Given the description of an element on the screen output the (x, y) to click on. 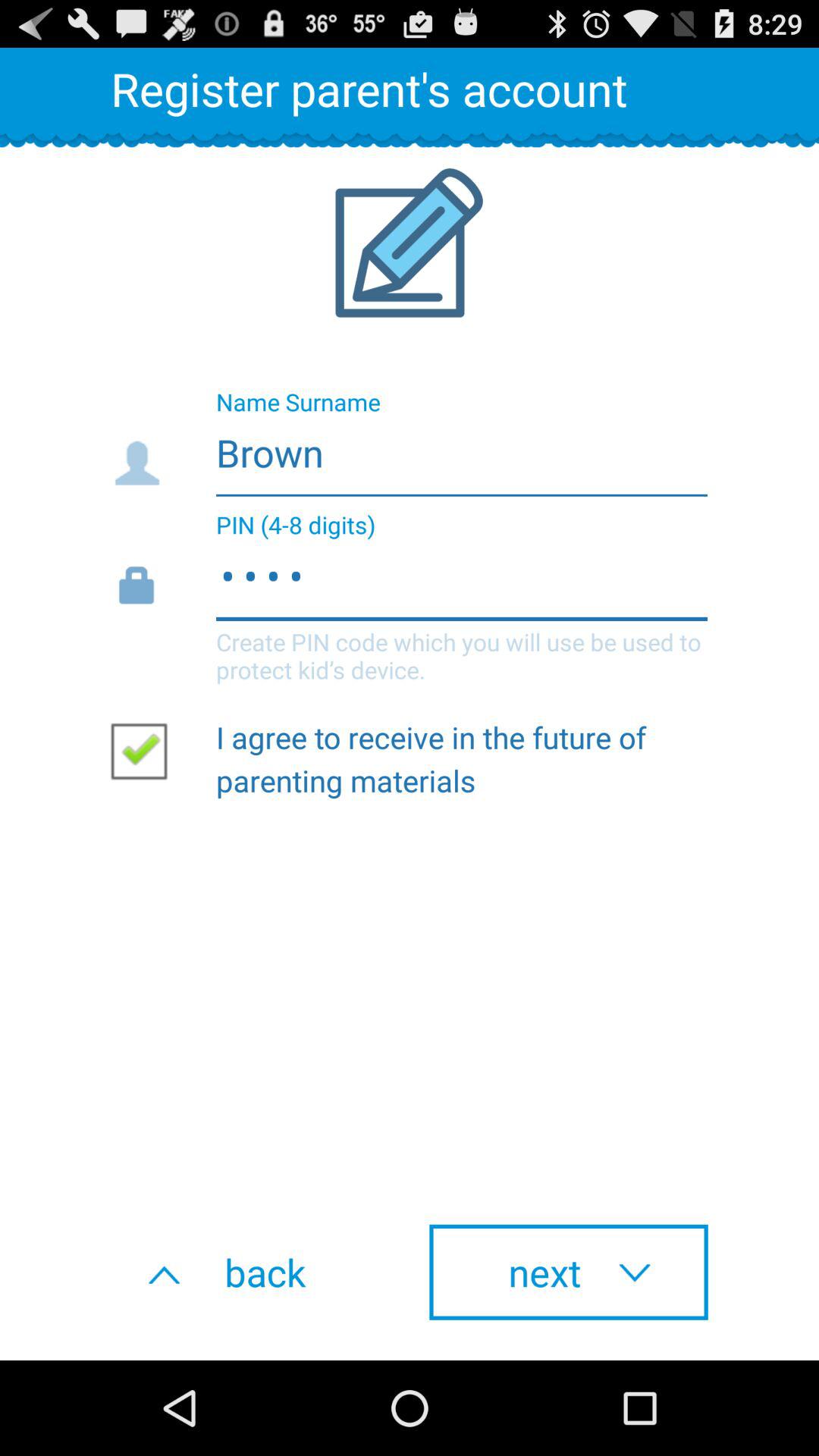
click the icon to the left of the next item (249, 1272)
